Given the description of an element on the screen output the (x, y) to click on. 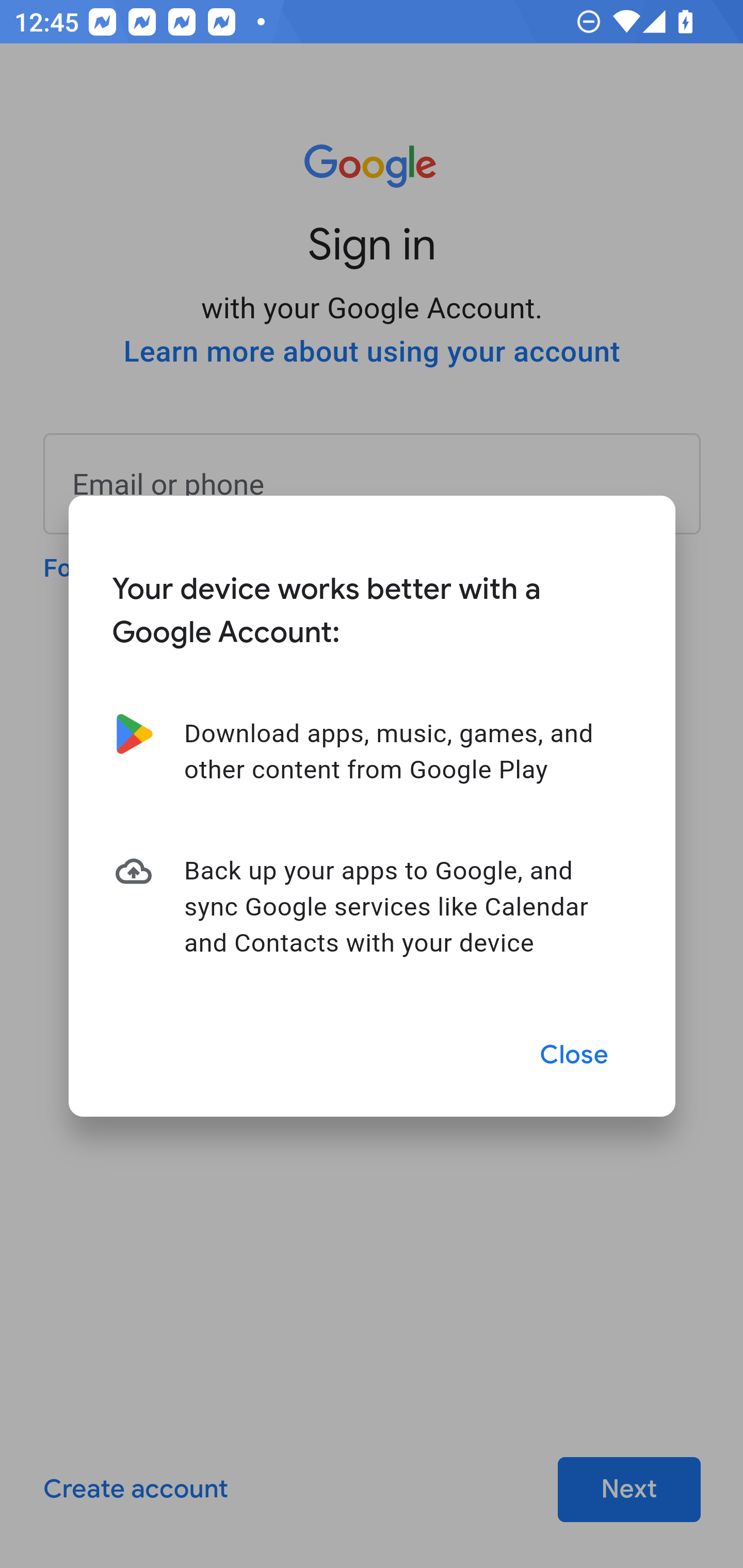
Close (574, 1055)
